Given the description of an element on the screen output the (x, y) to click on. 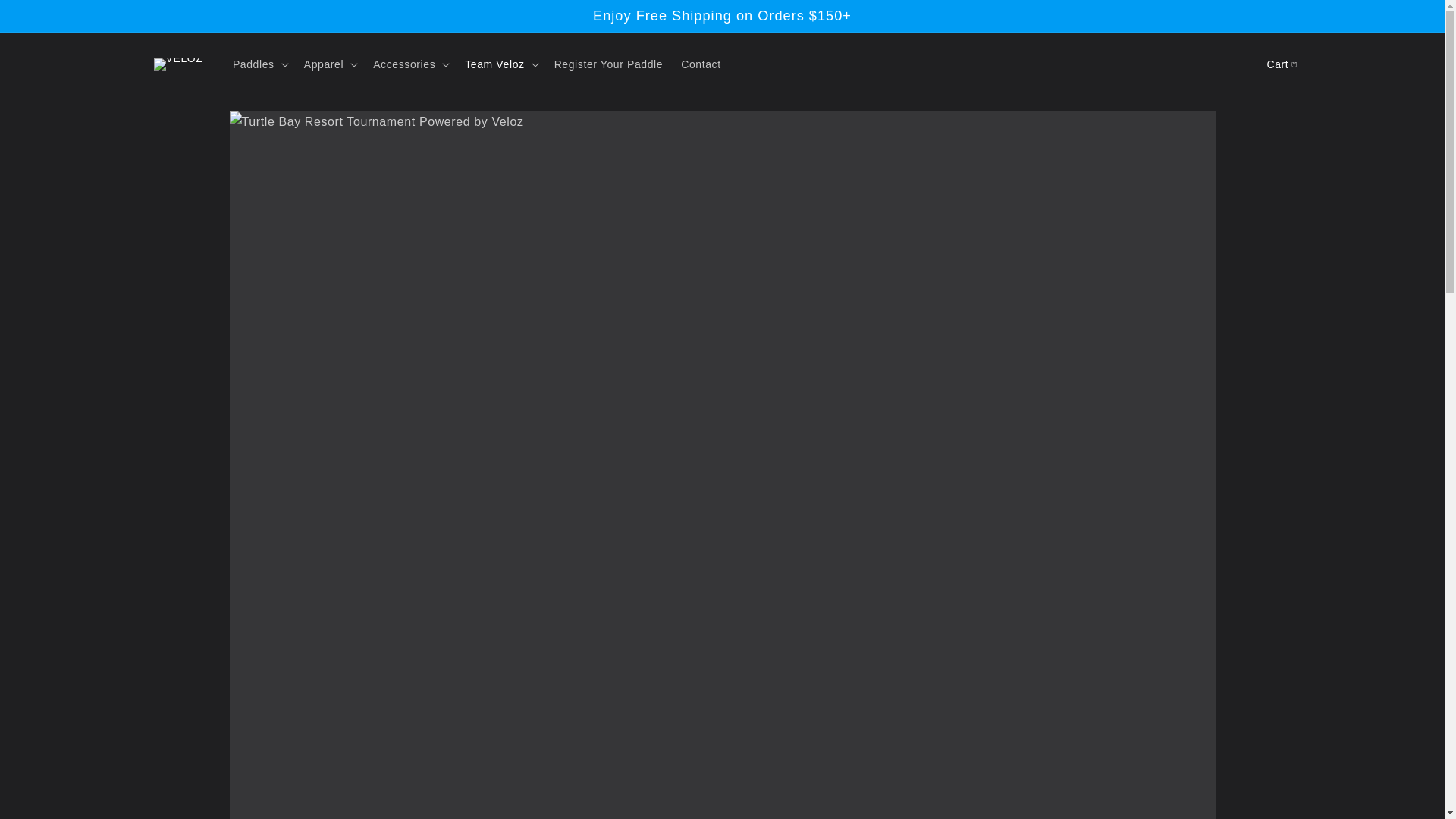
Skip to content (45, 17)
